Given the description of an element on the screen output the (x, y) to click on. 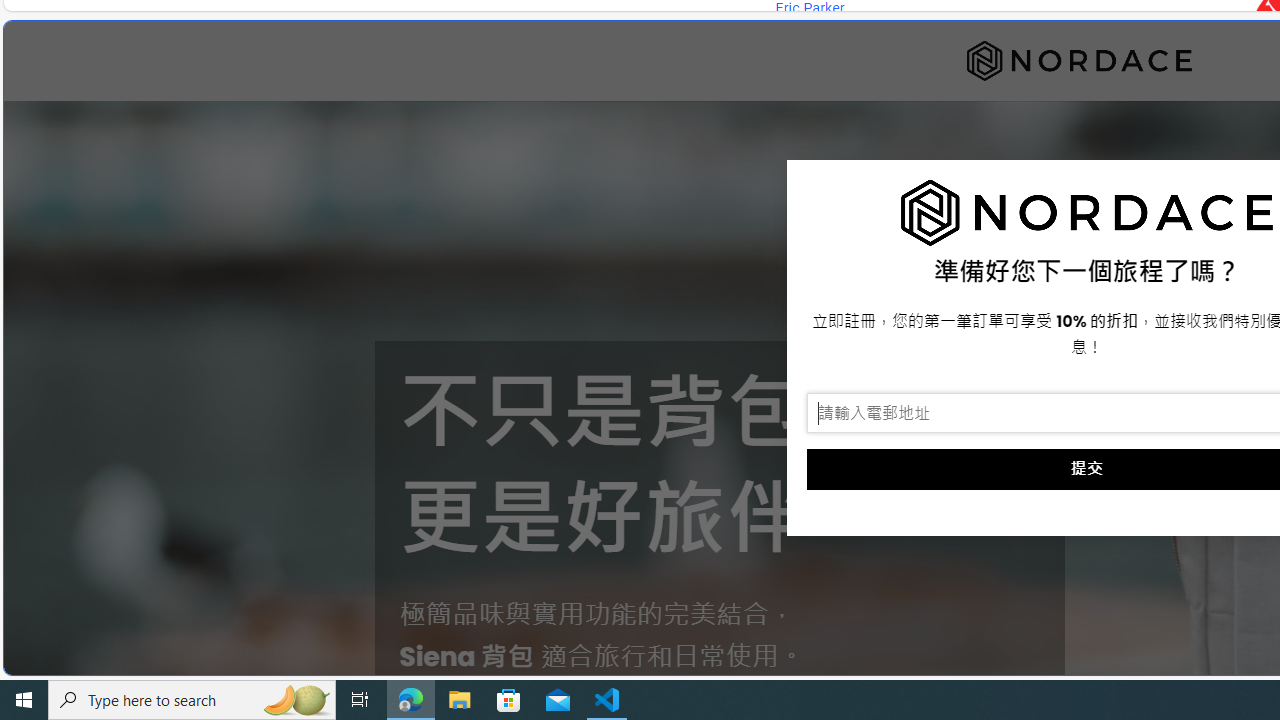
Eric Parker (809, 8)
